Given the description of an element on the screen output the (x, y) to click on. 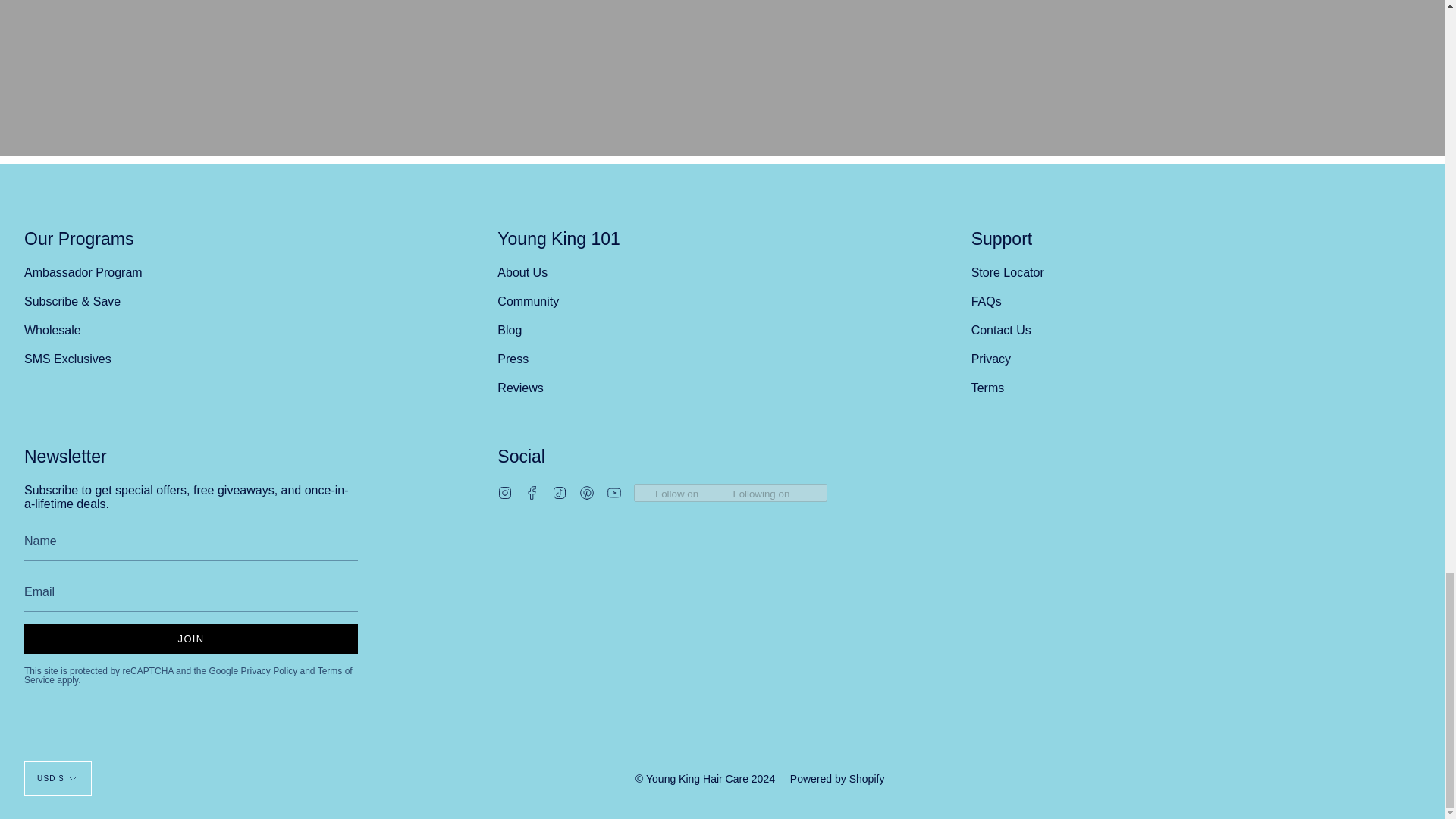
Young King Hair Care on Instagram (504, 491)
Young King Hair Care on TikTok (559, 491)
Young King Hair Care on YouTube (614, 491)
Young King Hair Care on Facebook (532, 491)
Young King Hair Care on Pinterest (586, 491)
